Given the description of an element on the screen output the (x, y) to click on. 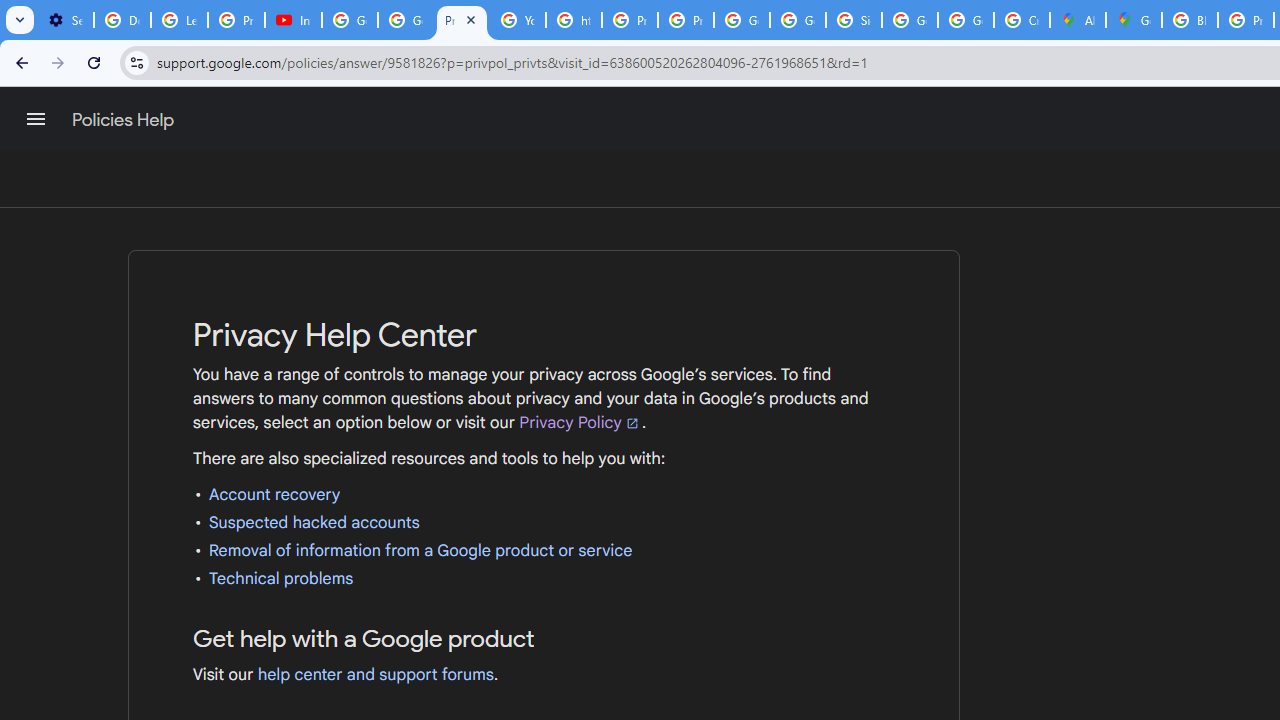
YouTube (518, 20)
Removal of information from a Google product or service (420, 550)
Privacy Help Center - Policies Help (629, 20)
help center and support forums (375, 674)
Delete photos & videos - Computer - Google Photos Help (122, 20)
Google Maps (1133, 20)
